Given the description of an element on the screen output the (x, y) to click on. 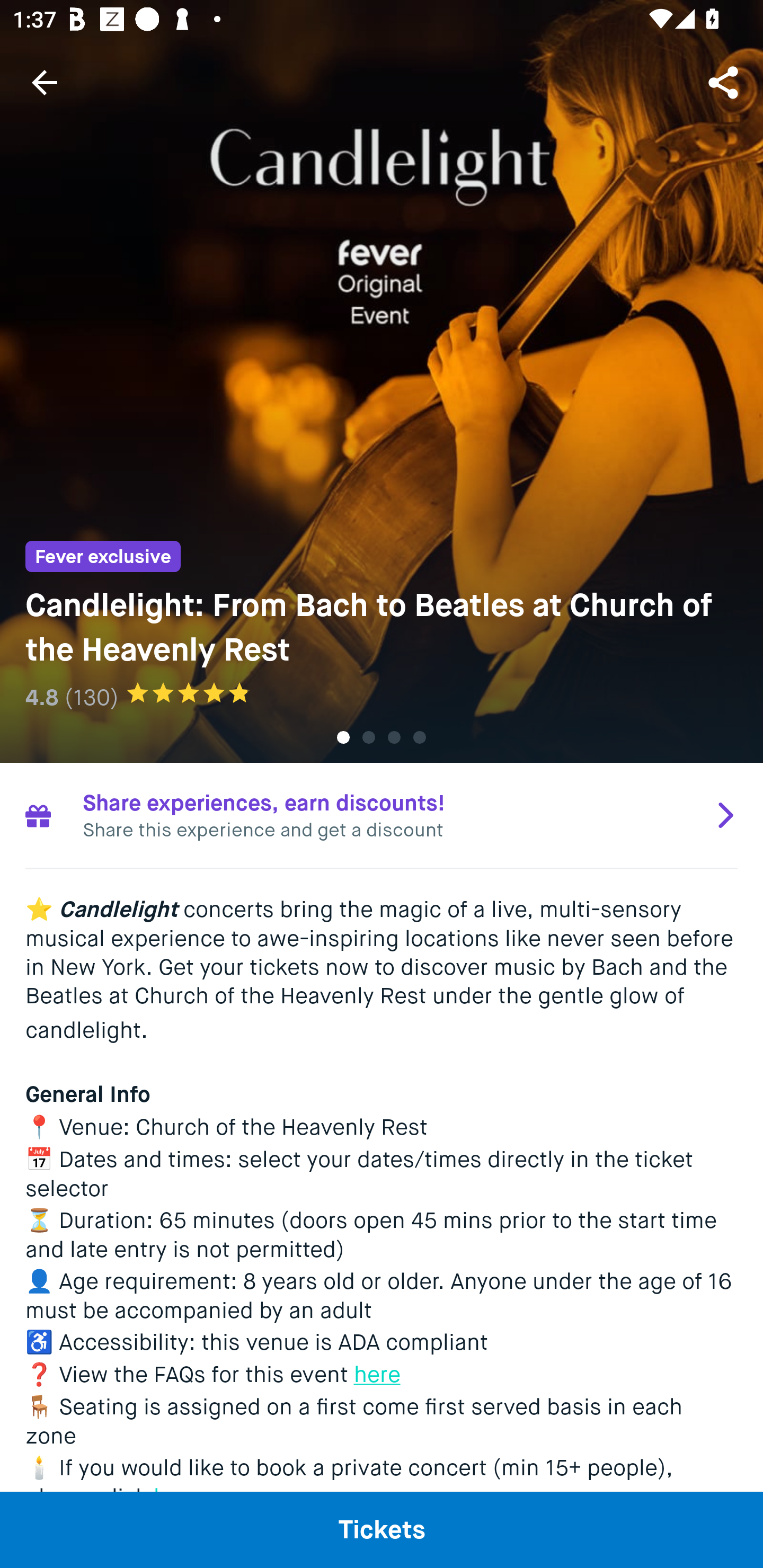
Navigate up (44, 82)
Share (724, 81)
(130) (91, 697)
Tickets (381, 1529)
